Given the description of an element on the screen output the (x, y) to click on. 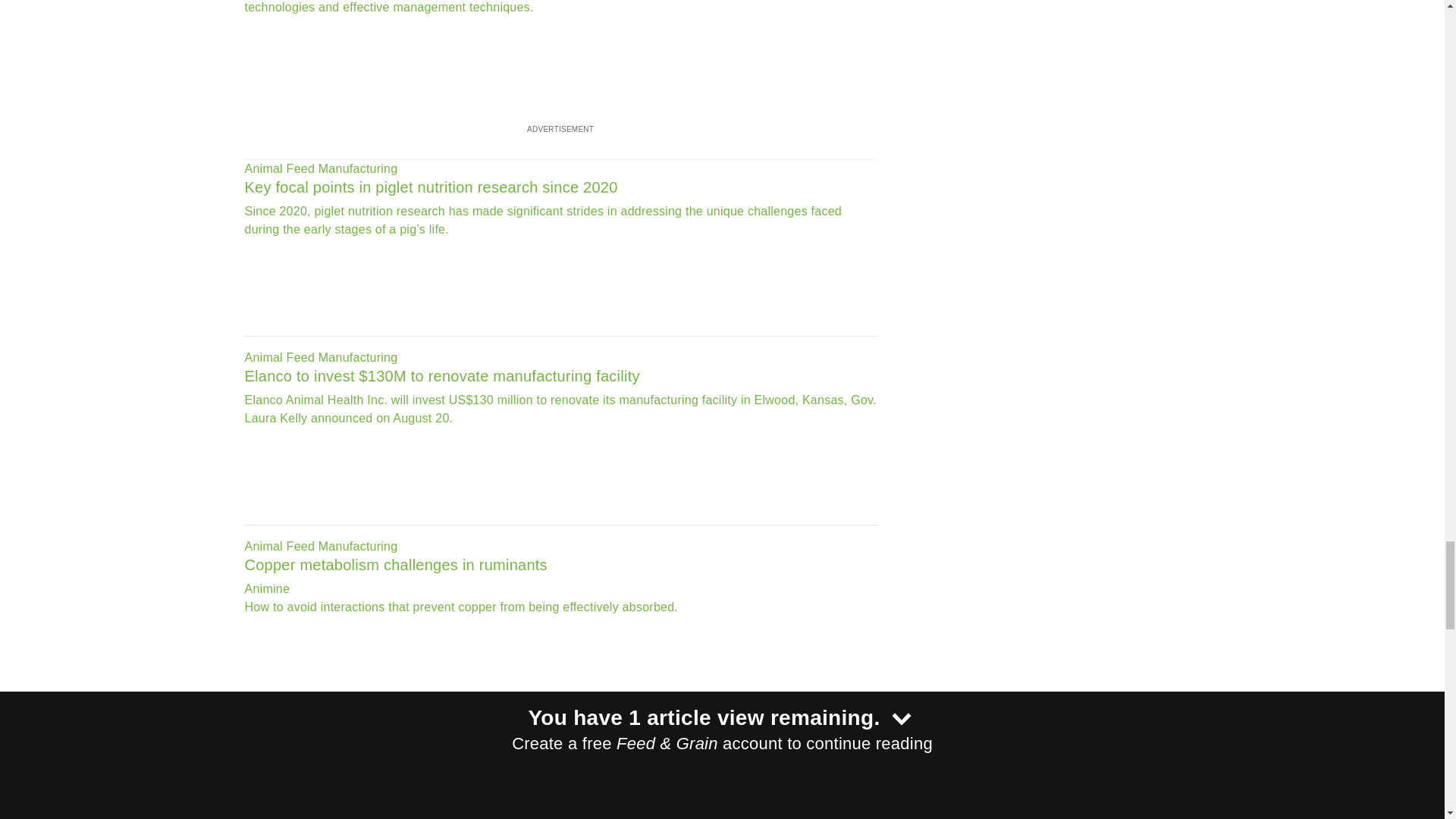
Animal Feed Manufacturing (560, 168)
Animal Feed Manufacturing (560, 357)
Animal Feed Manufacturing (560, 546)
